Given the description of an element on the screen output the (x, y) to click on. 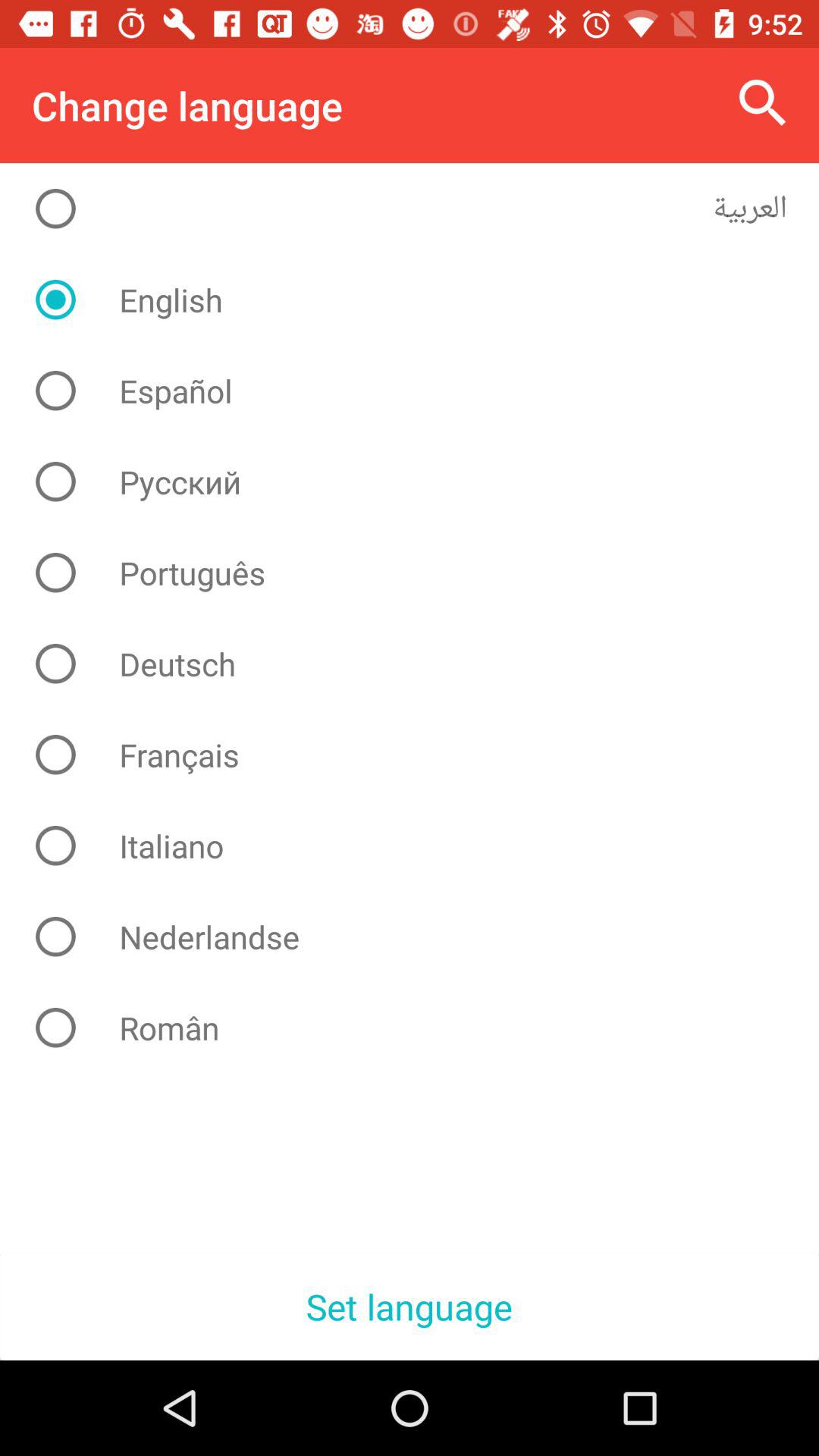
scroll until the english icon (421, 299)
